Given the description of an element on the screen output the (x, y) to click on. 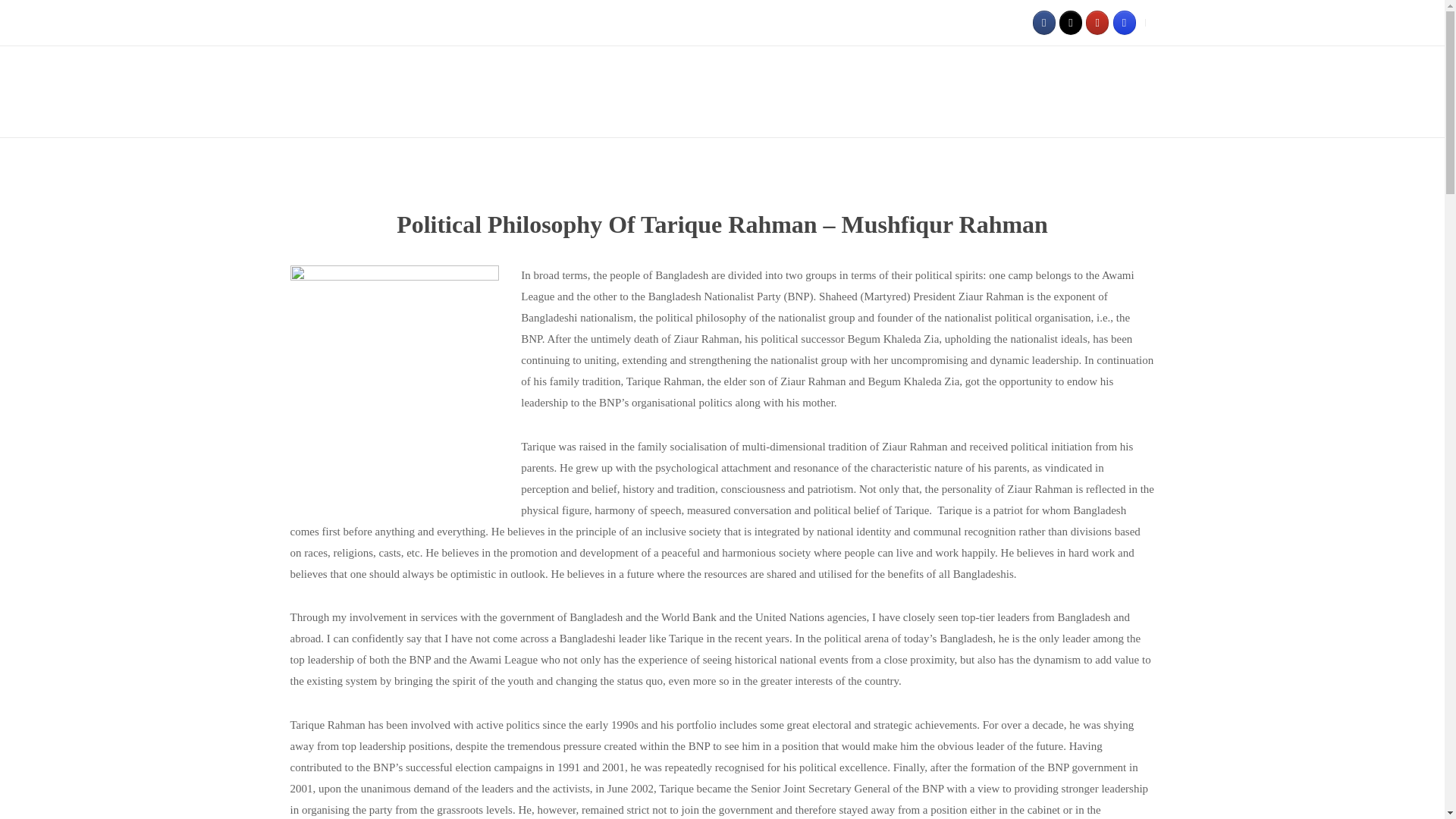
tariquerahman.info on Facebook (1043, 22)
tariquerahman.info on Youtube (1097, 22)
tariquerahman.info on X Twitter (1070, 22)
tariquerahman.info on Instagram (1124, 22)
